Given the description of an element on the screen output the (x, y) to click on. 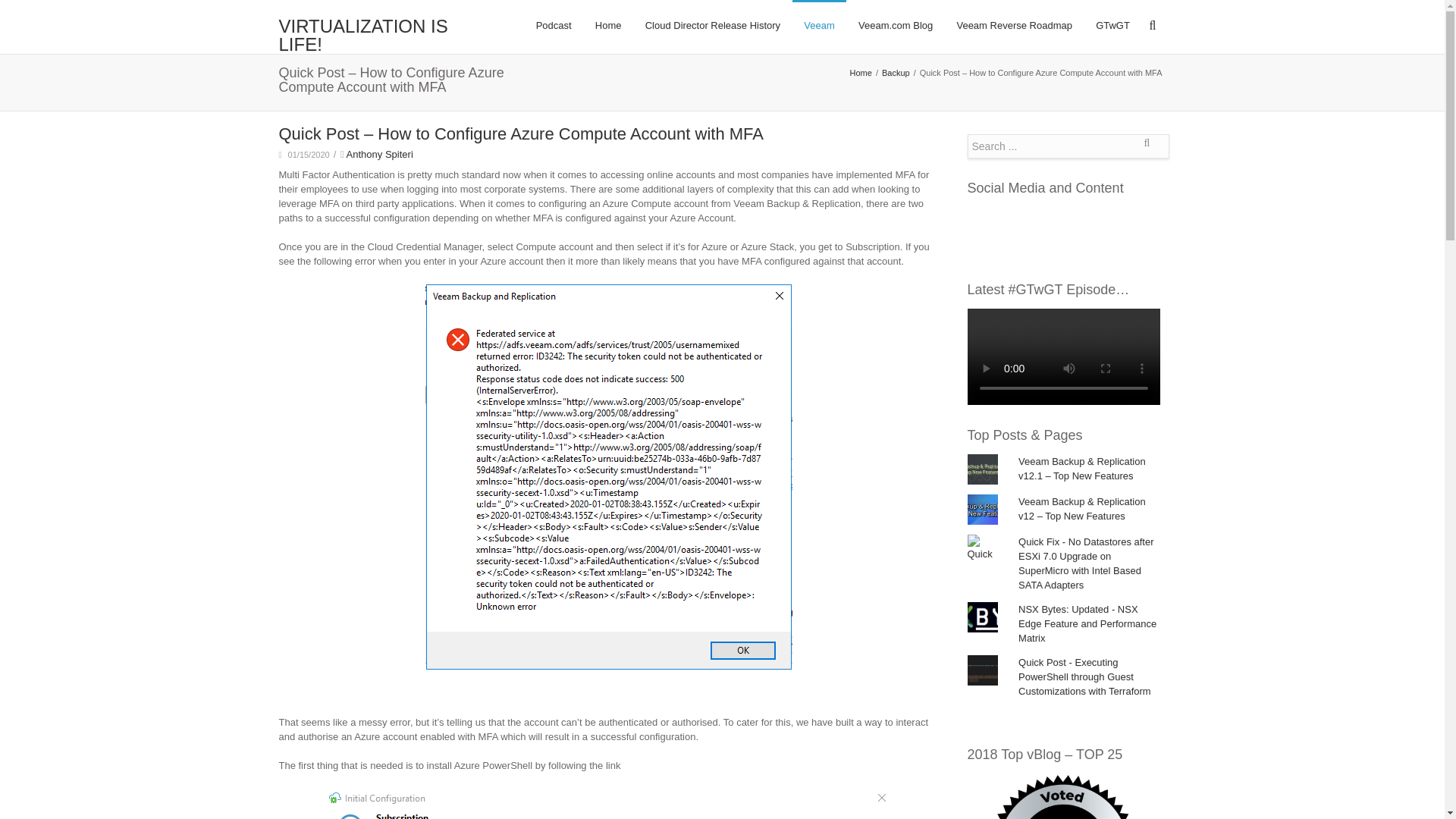
Podcast (553, 26)
Veeam (819, 26)
Veeam.com Blog (894, 26)
Posts by Anthony Spiteri (379, 153)
Backup (898, 71)
NSX Bytes: Updated - NSX Edge Feature and Performance Matrix (1086, 623)
Home (608, 26)
Veeam Reverse Roadmap (1014, 26)
Cloud Director Release History (712, 26)
VIRTUALIZATION IS LIFE! (381, 35)
Anthony Spiteri (379, 153)
Home (863, 71)
GTwGT (1112, 26)
